Given the description of an element on the screen output the (x, y) to click on. 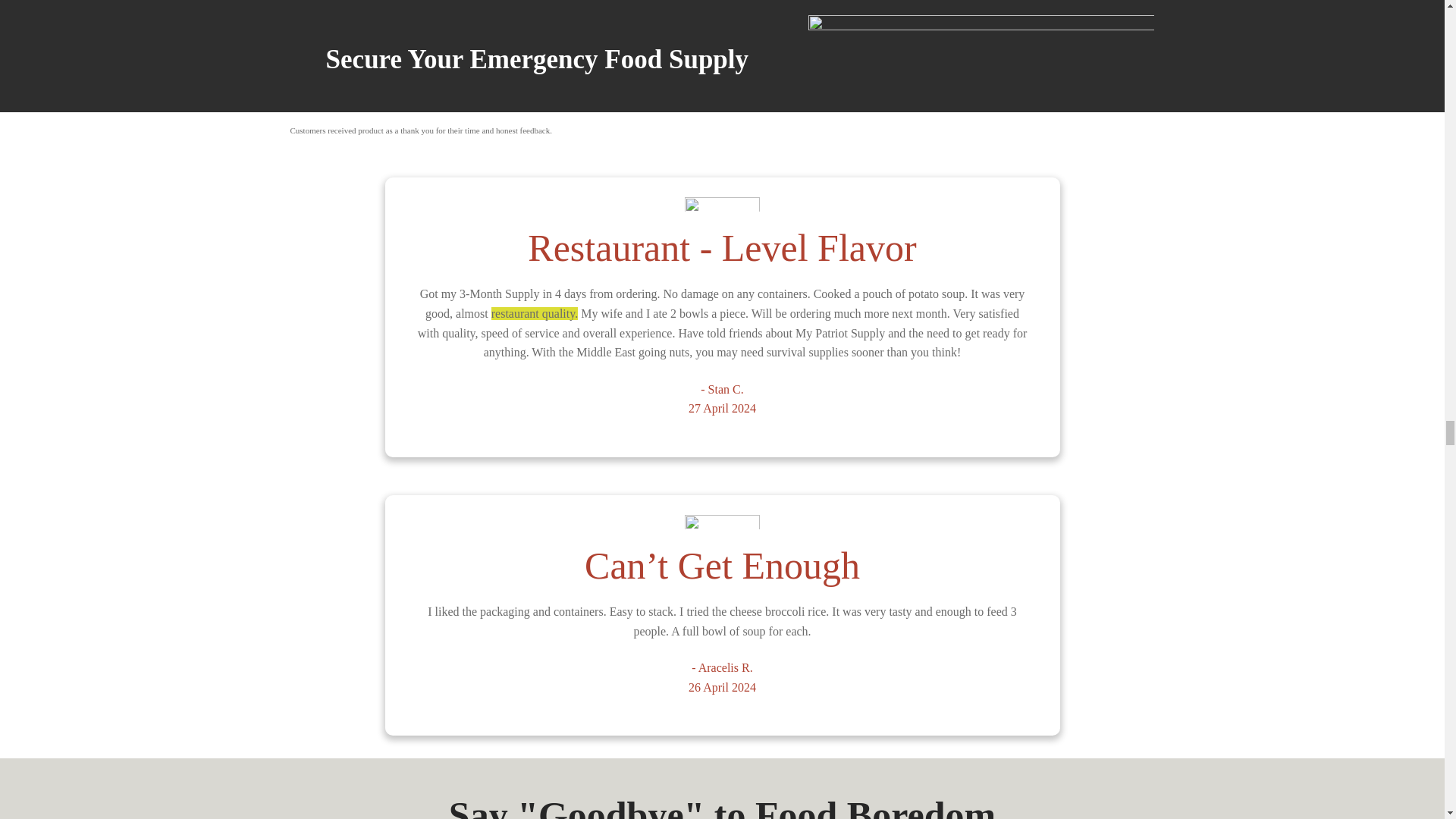
Video Player (721, 56)
